Given the description of an element on the screen output the (x, y) to click on. 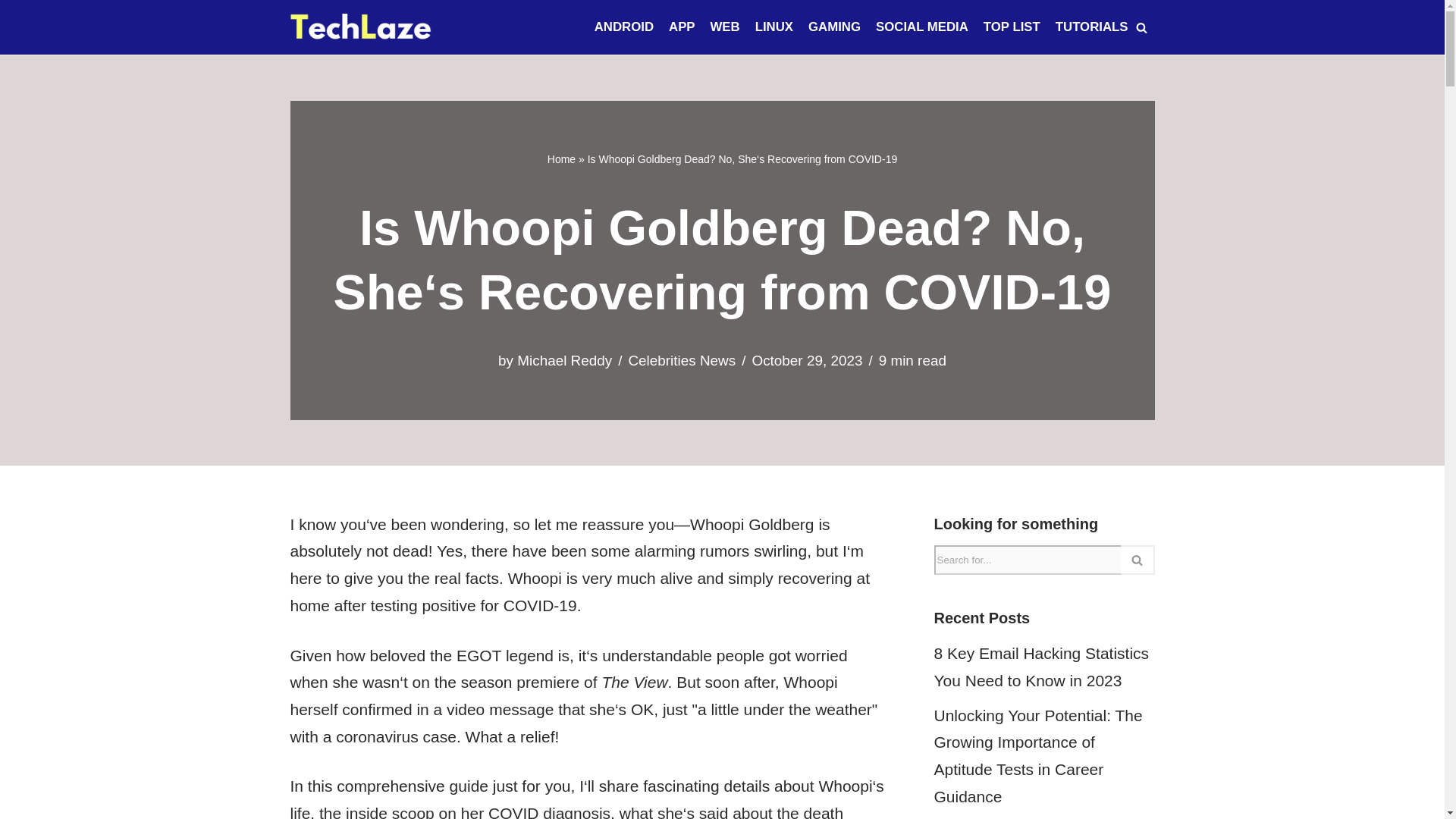
APP (681, 27)
Posts by Michael Reddy (563, 360)
ANDROID (623, 27)
Home (561, 159)
Skip to content (11, 31)
LINUX (774, 27)
TOP LIST (1012, 27)
SOCIAL MEDIA (922, 27)
TechLaze (359, 26)
WEB (724, 27)
TUTORIALS (1091, 27)
Celebrities News (681, 360)
Michael Reddy (563, 360)
GAMING (834, 27)
